Given the description of an element on the screen output the (x, y) to click on. 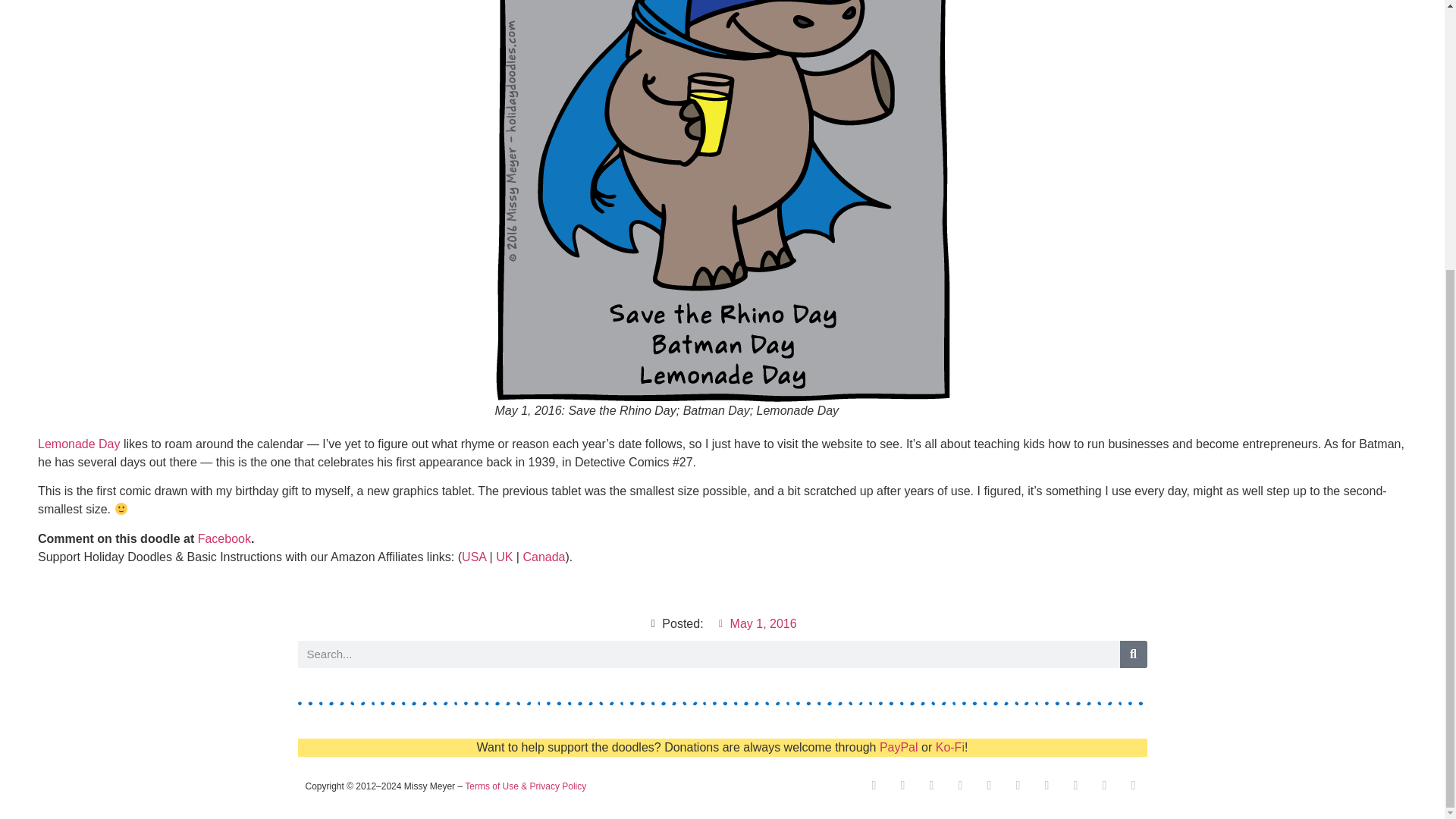
Ko-Fi (949, 747)
USA (473, 556)
Canada (543, 556)
PayPal (898, 747)
May 1, 2016 (756, 624)
UK (504, 556)
Facebook (224, 538)
Lemonade Day (78, 443)
